Given the description of an element on the screen output the (x, y) to click on. 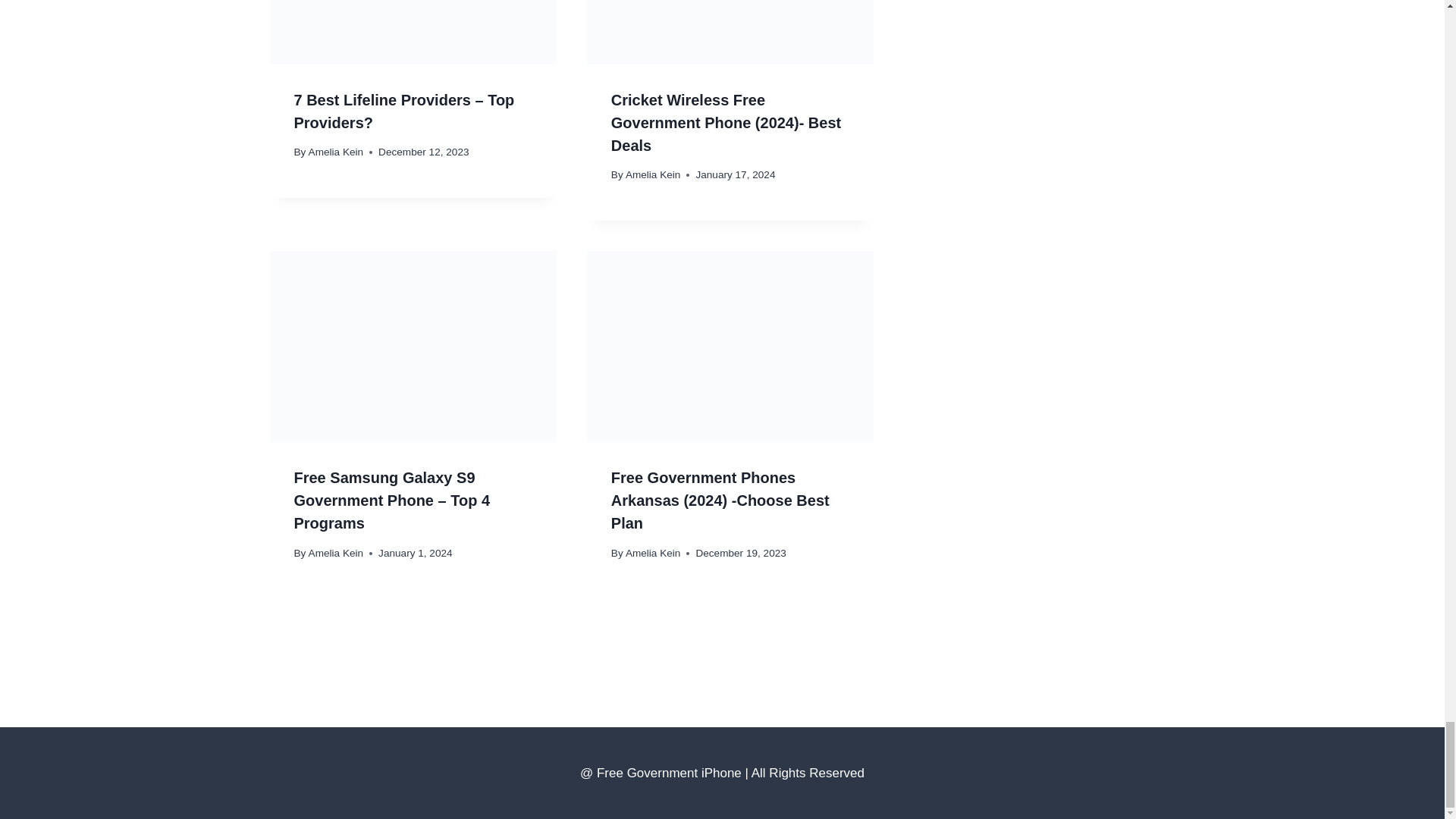
Free Samsung Galaxy S9 Government Phone - Top 4 Programs 8 (412, 346)
7 Best Lifeline Providers - Top Providers? 6 (412, 31)
